Given the description of an element on the screen output the (x, y) to click on. 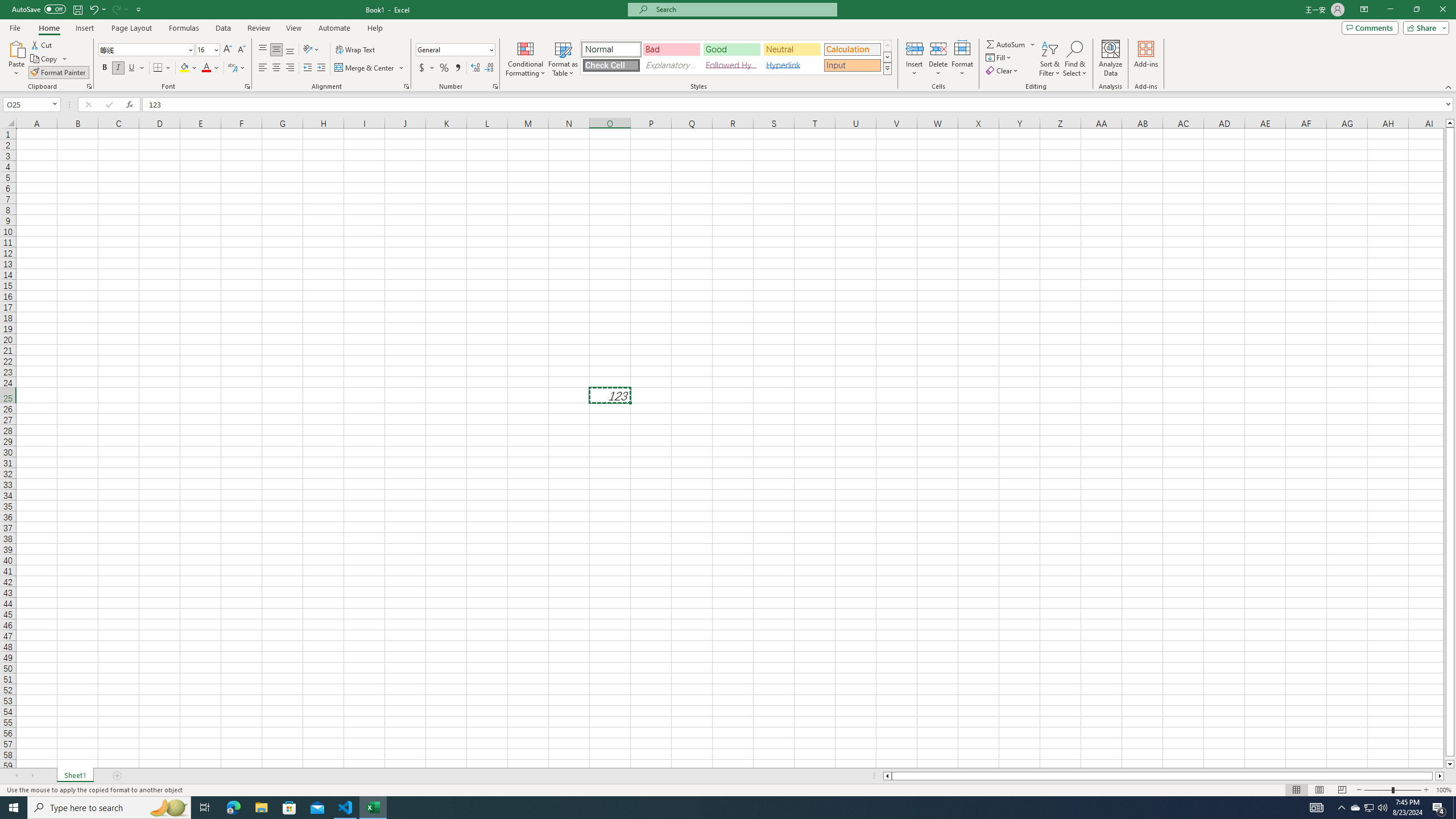
Microsoft search (742, 9)
Name Box (27, 104)
Copy (49, 58)
Increase Font Size (227, 49)
Normal (611, 49)
Fill Color (188, 67)
Row up (887, 45)
Sheet1 (74, 775)
Cell Styles (887, 68)
Wrap Text (355, 49)
Decrease Indent (307, 67)
Accounting Number Format (426, 67)
Format (962, 58)
Delete (938, 58)
Save (77, 9)
